Given the description of an element on the screen output the (x, y) to click on. 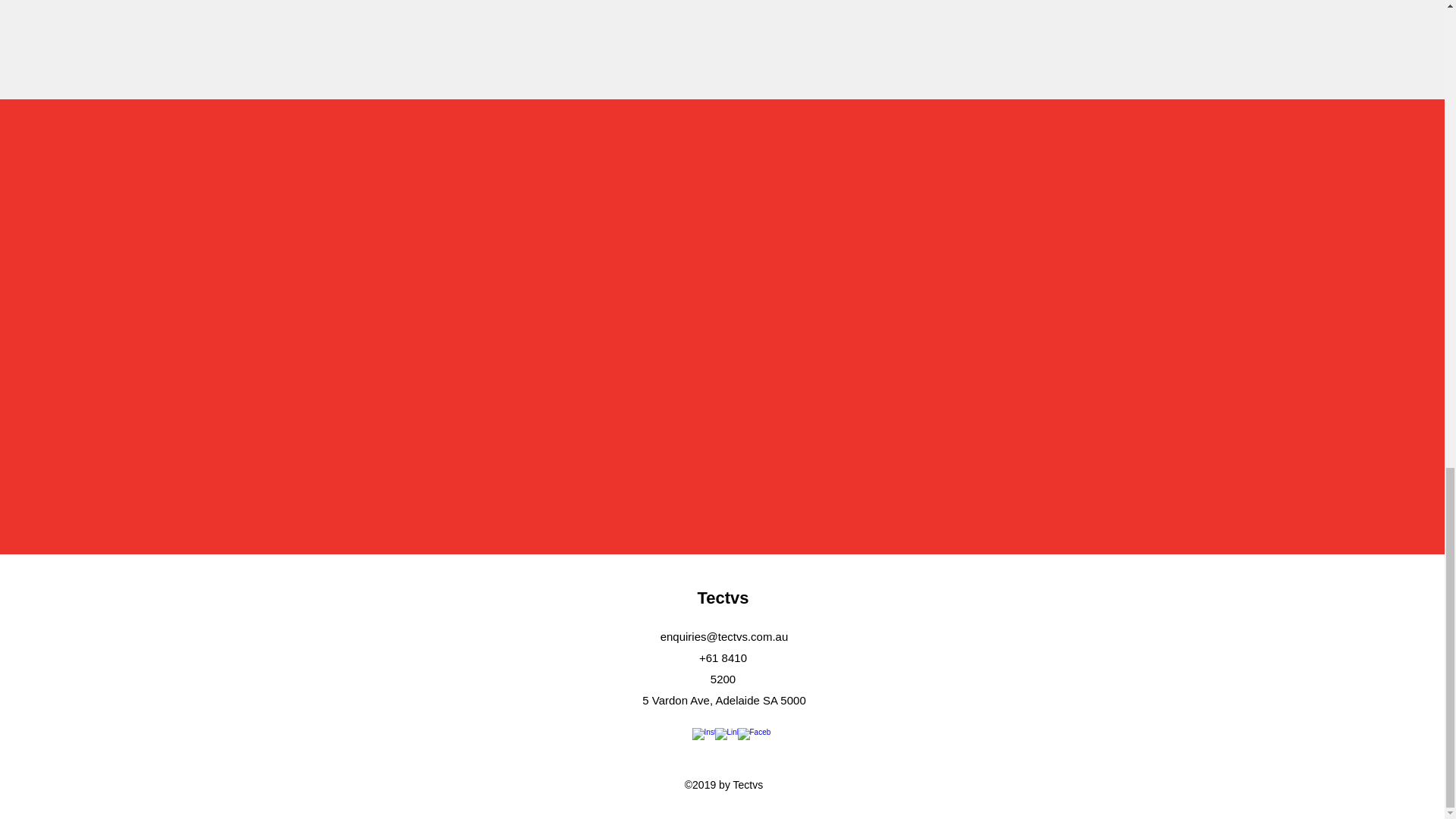
Tectvs (722, 597)
